Given the description of an element on the screen output the (x, y) to click on. 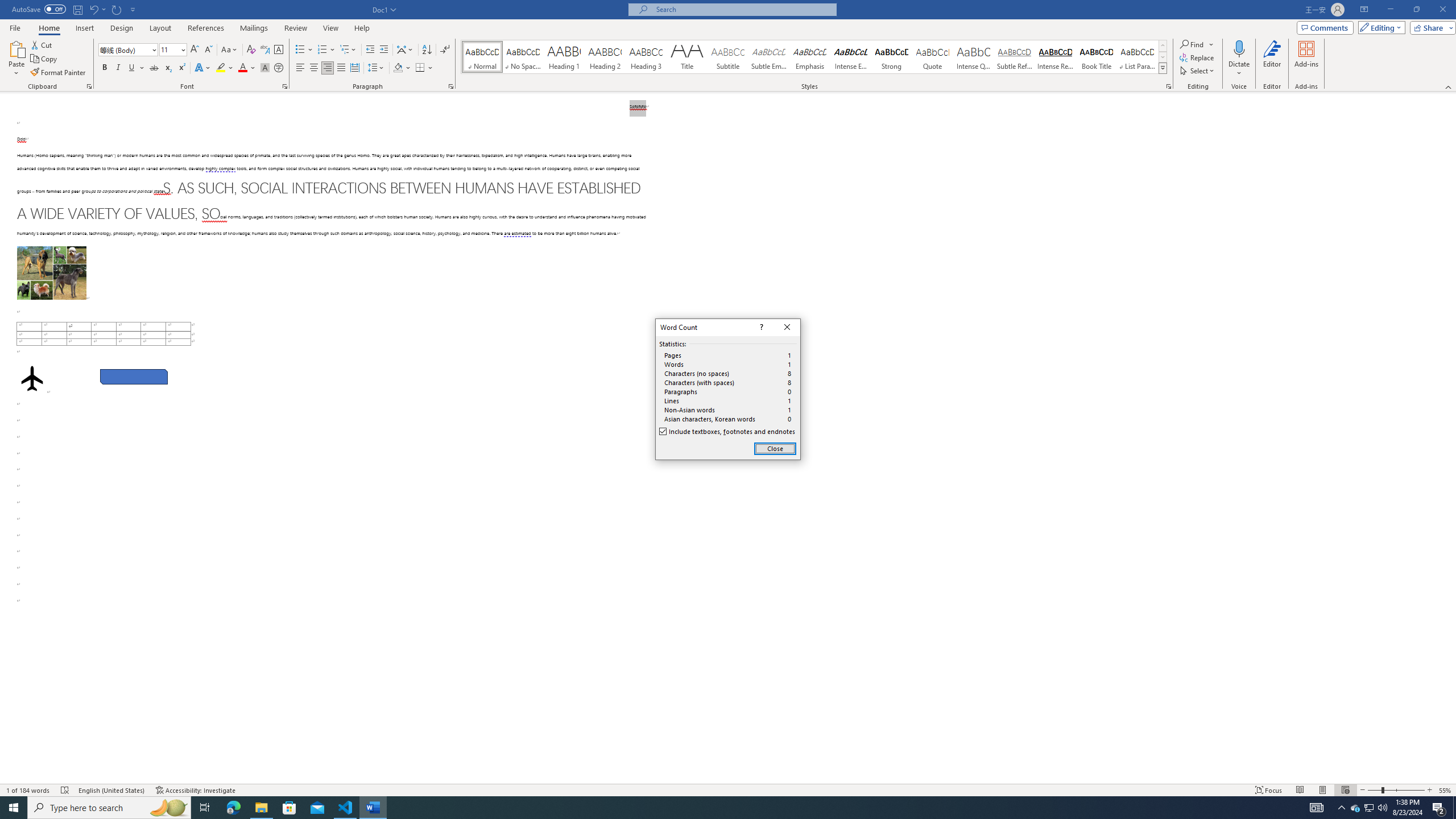
AutomationID: QuickStylesGallery (814, 56)
Heading 1 (564, 56)
